Given the description of an element on the screen output the (x, y) to click on. 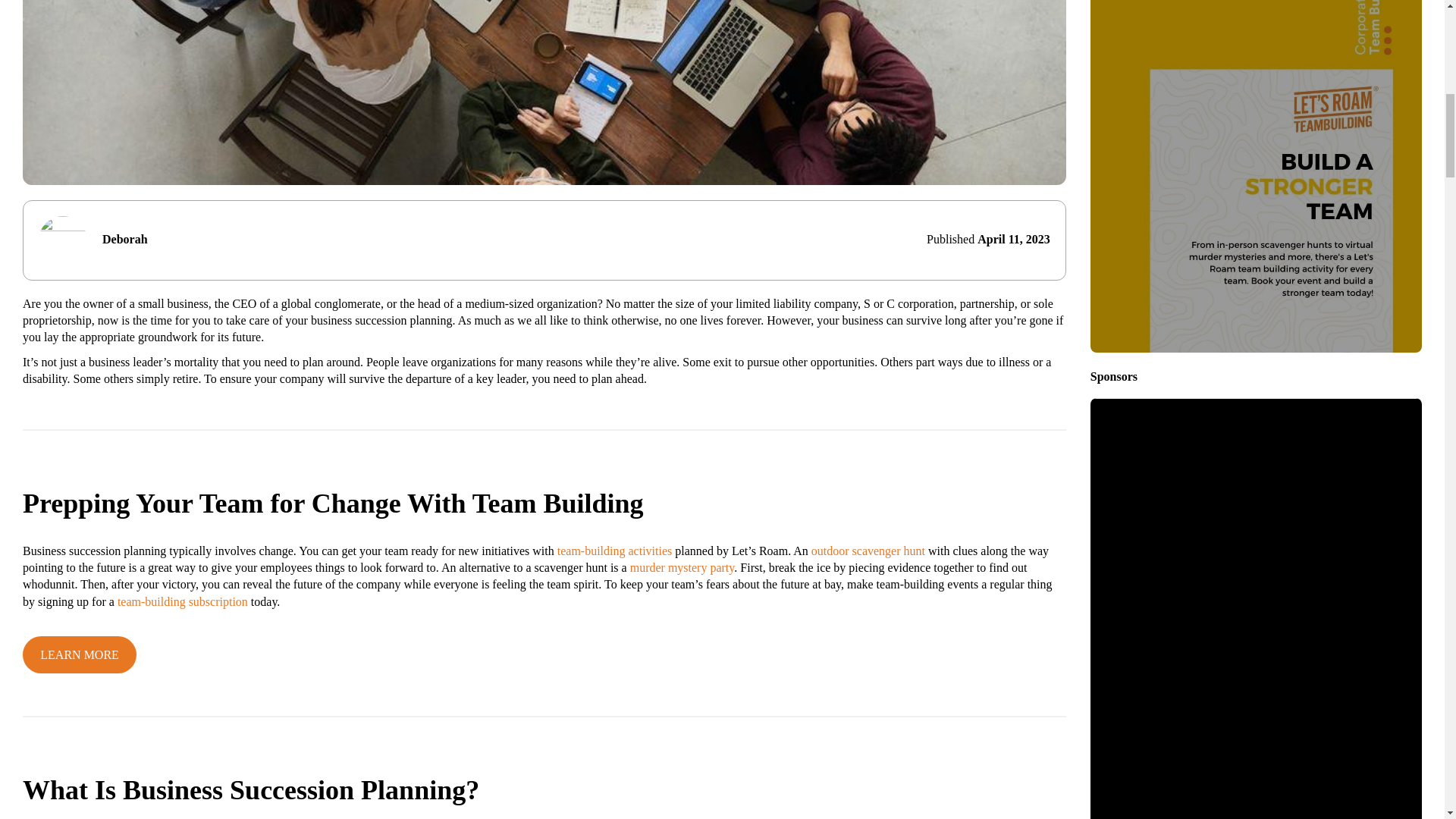
LEARN MORE (79, 654)
team-building subscription (182, 601)
team-building activities (614, 550)
outdoor scavenger hunt (867, 550)
murder mystery party (682, 567)
